Given the description of an element on the screen output the (x, y) to click on. 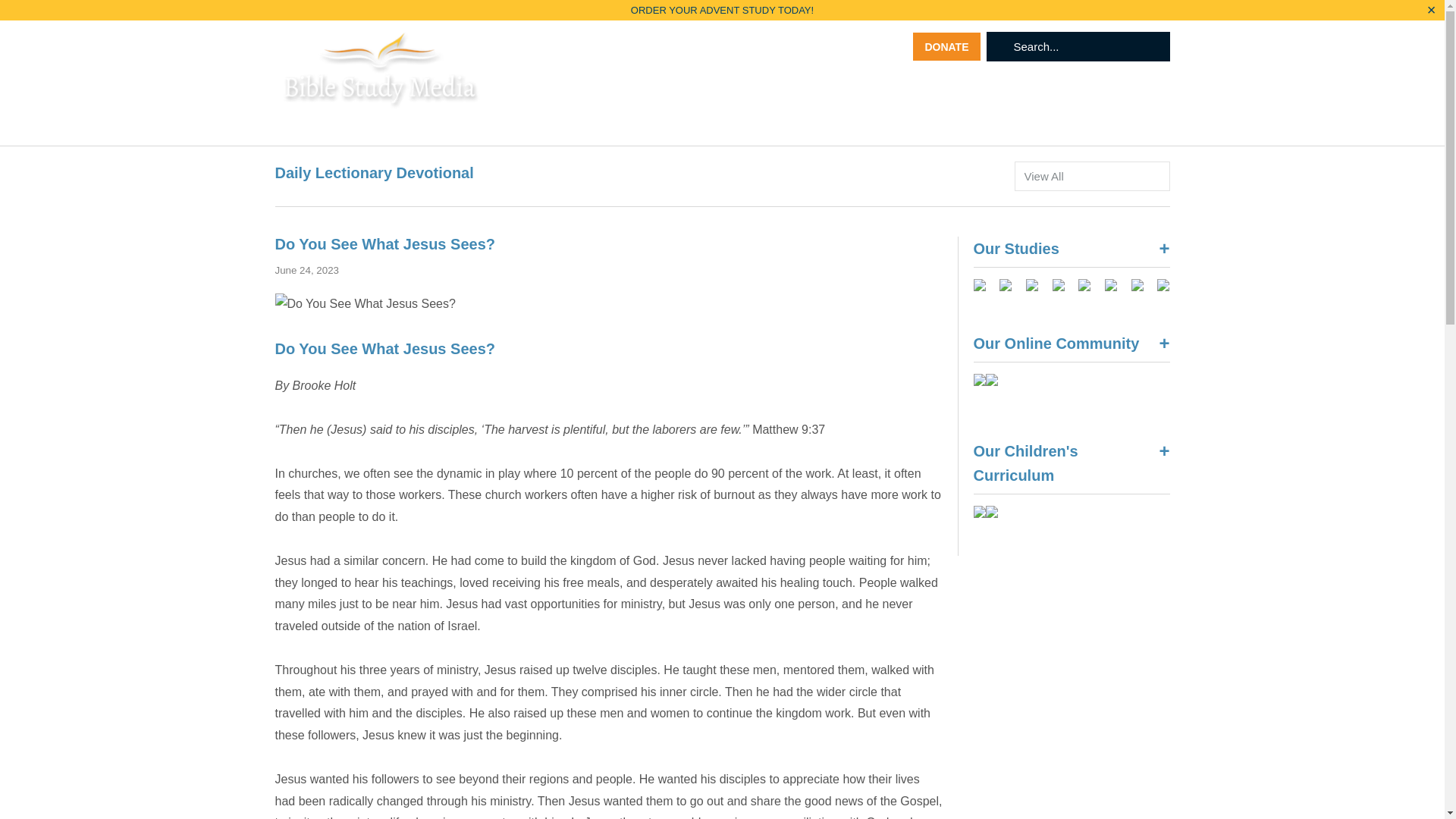
ABOUT (584, 89)
DONATE (945, 46)
ADULT CURRICULUM (683, 89)
Bible Study Media (380, 82)
Daily Lectionary Devotional (374, 172)
